Given the description of an element on the screen output the (x, y) to click on. 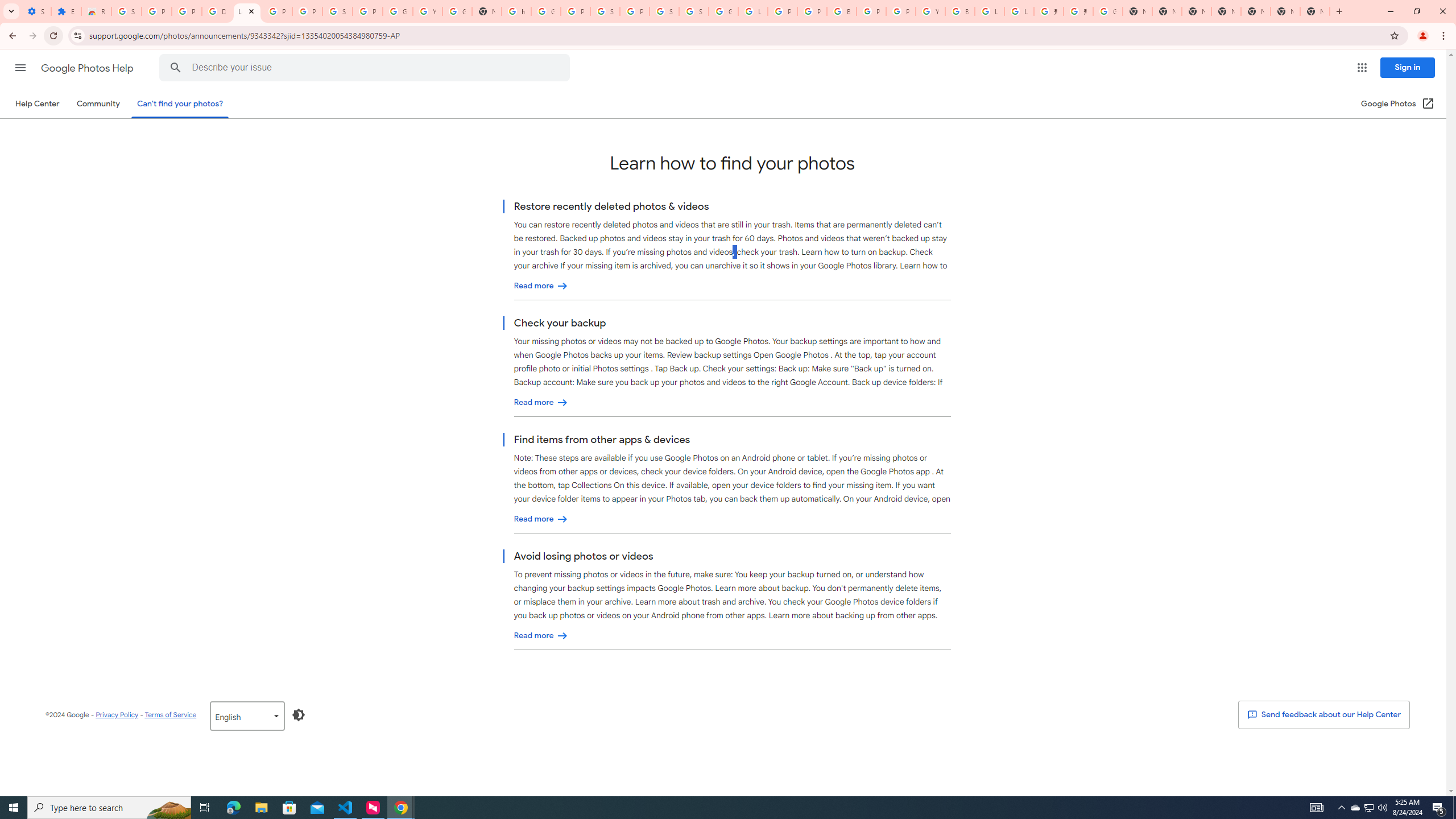
Google Images (1107, 11)
Privacy Help Center - Policies Help (782, 11)
Search Help Center (176, 67)
Sign in - Google Accounts (337, 11)
Can't find your photos? (180, 103)
Google Photos Help (87, 68)
YouTube (426, 11)
Describe your issue (366, 67)
